Given the description of an element on the screen output the (x, y) to click on. 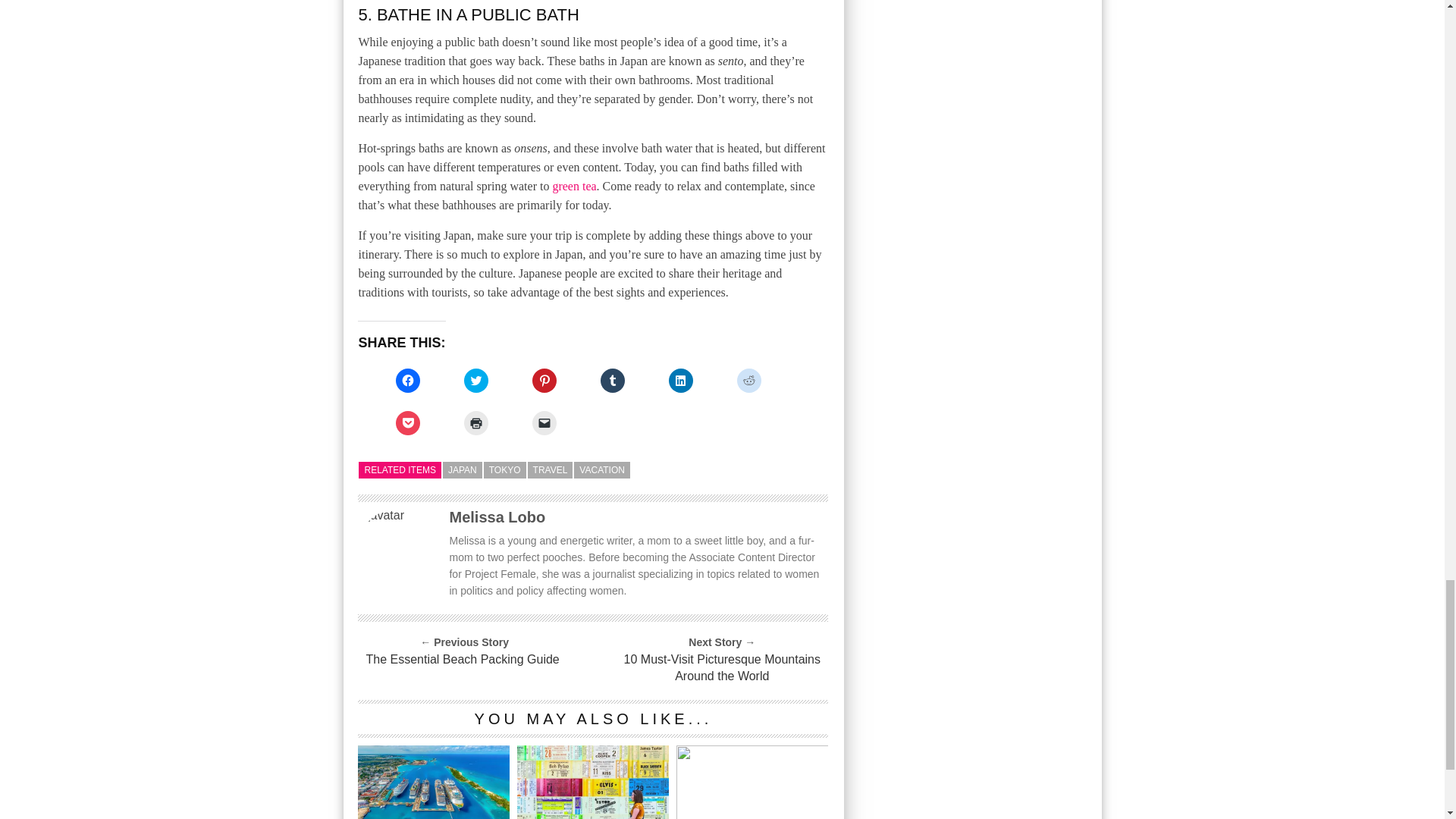
Click to share on Reddit (748, 380)
Click to print (475, 422)
Click to share on Pinterest (544, 380)
Click to share on LinkedIn (680, 380)
Click to share on Twitter (475, 380)
Click to share on Pocket (408, 422)
Click to share on Facebook (408, 380)
Click to share on Tumblr (611, 380)
